Given the description of an element on the screen output the (x, y) to click on. 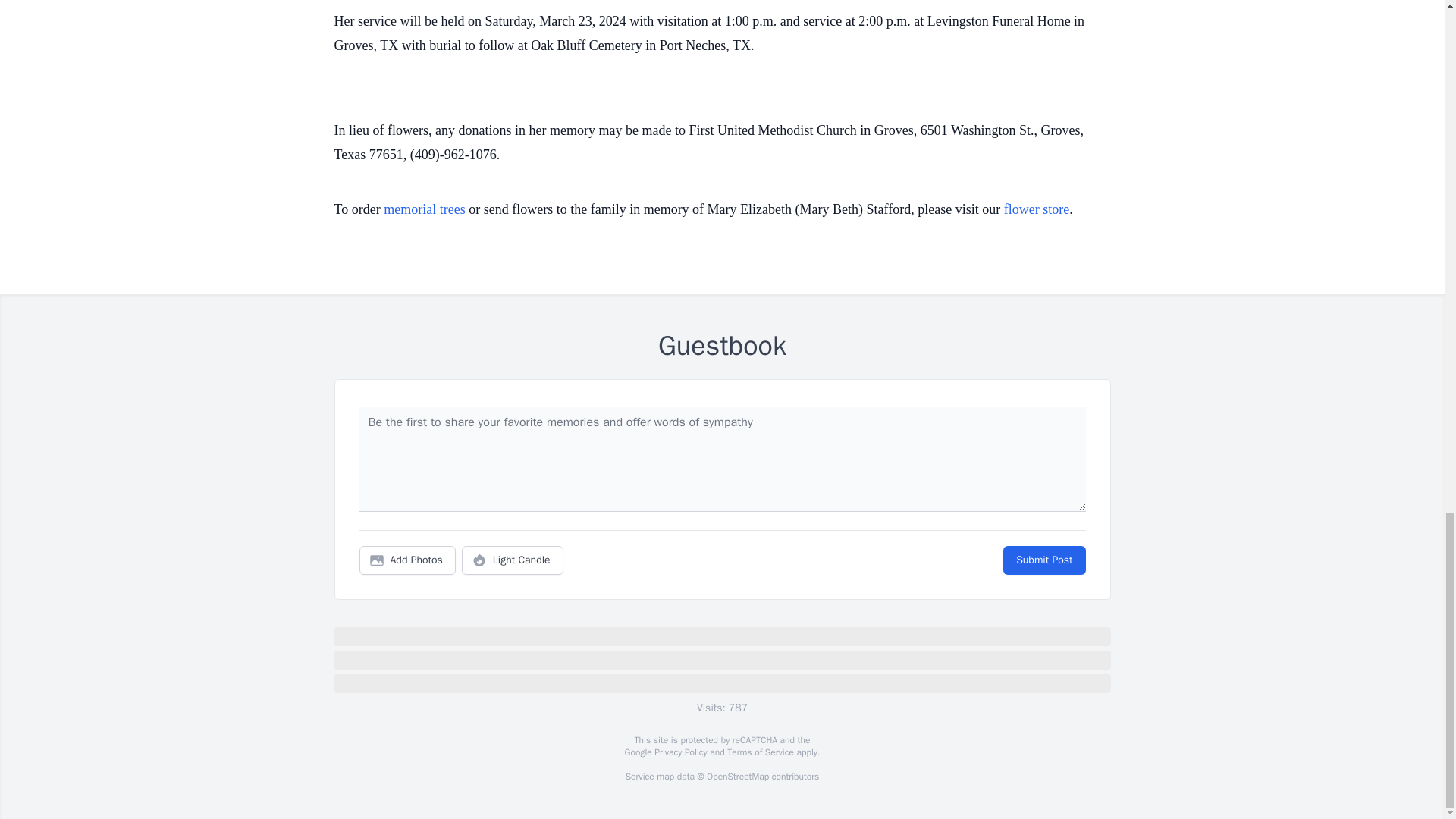
Add Photos (407, 560)
Privacy Policy (679, 752)
memorial trees (424, 209)
Submit Post (1043, 560)
Light Candle (512, 560)
flower store (1036, 209)
Terms of Service (759, 752)
OpenStreetMap (737, 776)
